Given the description of an element on the screen output the (x, y) to click on. 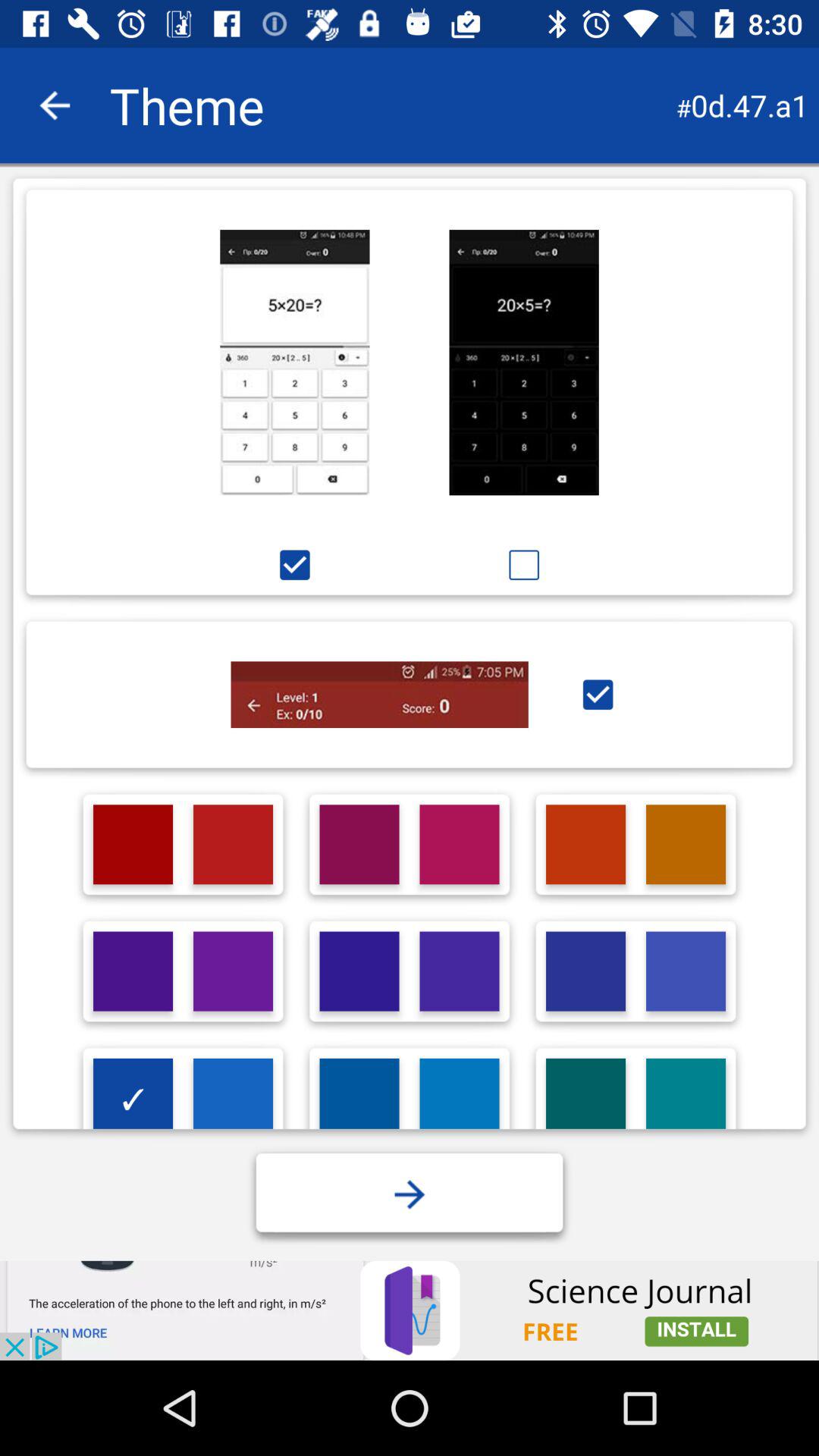
advertisement (459, 1098)
